Given the description of an element on the screen output the (x, y) to click on. 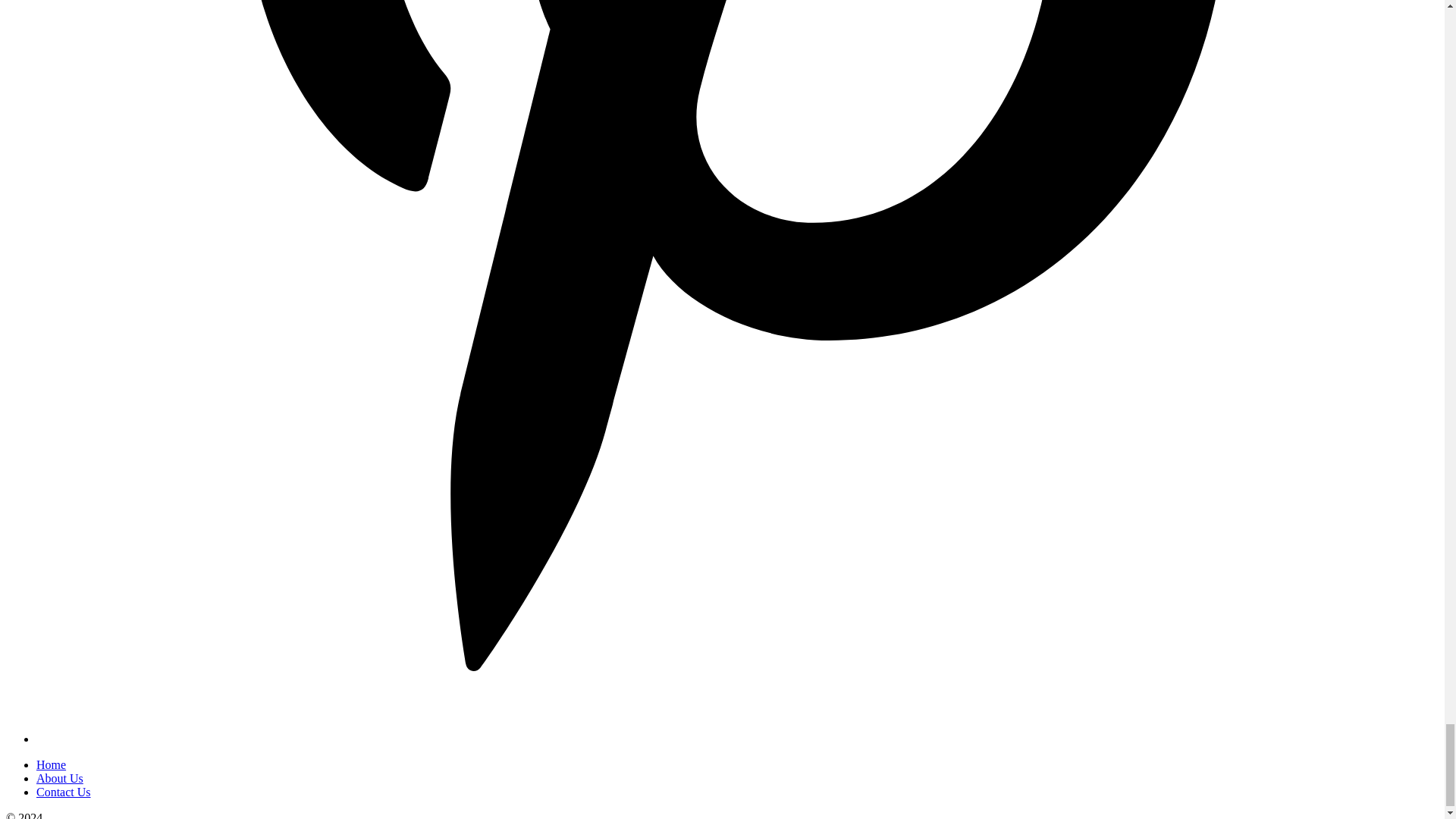
About Us (59, 778)
Contact Us (63, 791)
Home (50, 764)
